Given the description of an element on the screen output the (x, y) to click on. 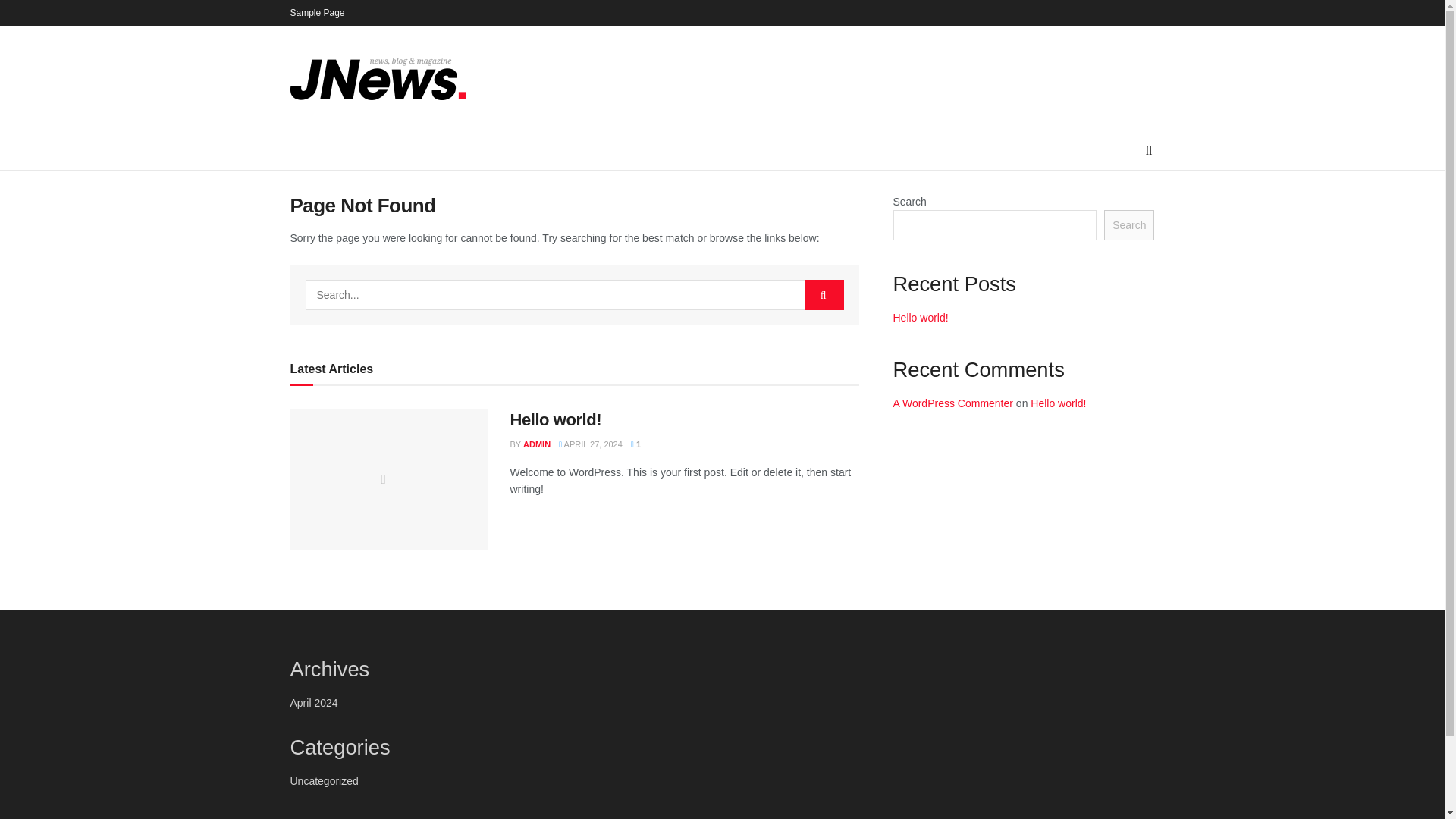
Hello world! (921, 317)
Sample Page (316, 12)
APRIL 27, 2024 (591, 443)
Uncategorized (323, 780)
April 2024 (313, 702)
ADMIN (536, 443)
Search (1128, 224)
Hello world! (1058, 403)
A WordPress Commenter (953, 403)
Hello world! (555, 419)
